Given the description of an element on the screen output the (x, y) to click on. 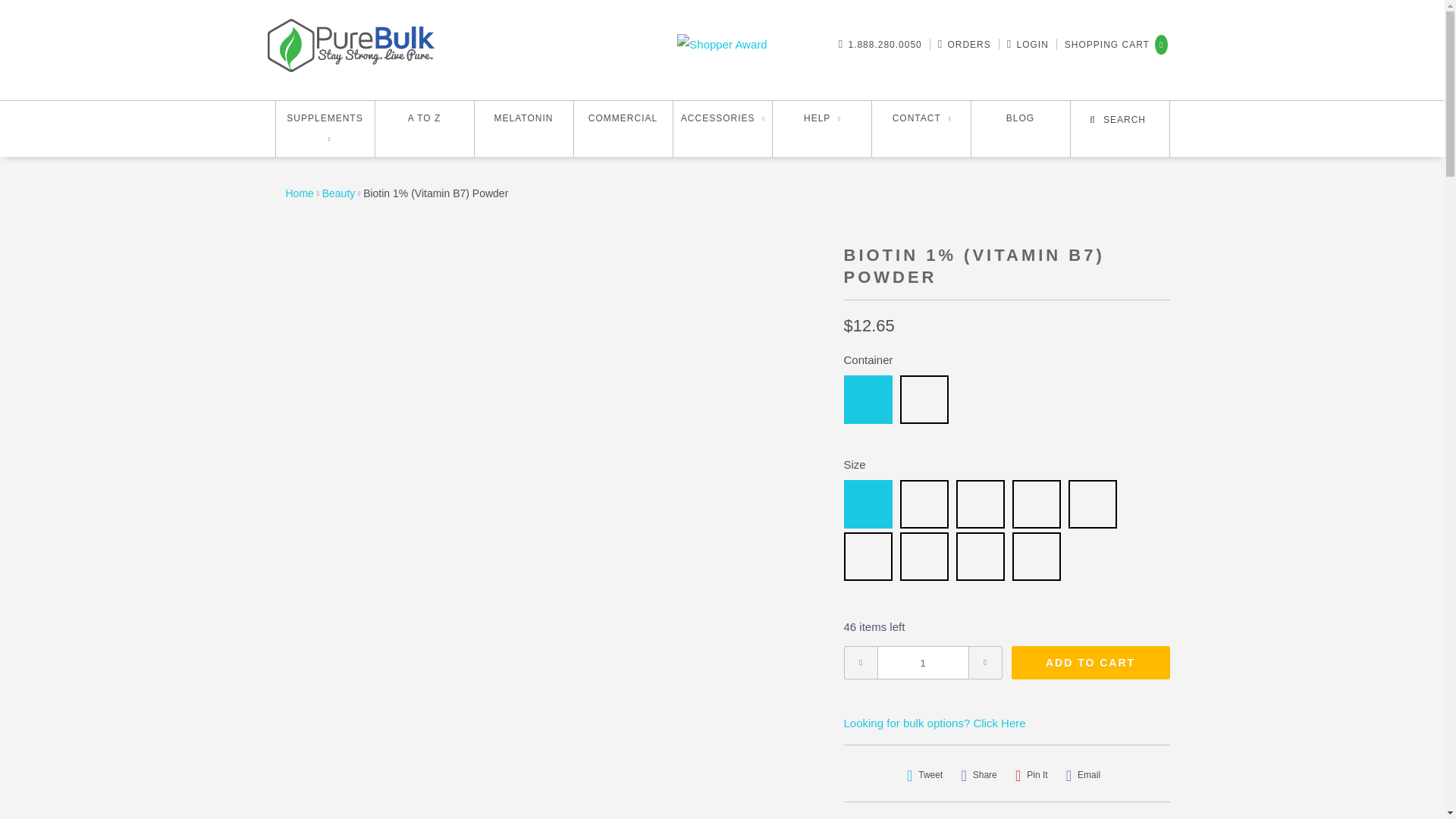
PureBulk, Inc. (299, 193)
1 (922, 662)
ORDERS (968, 44)
Email this to a friend (1083, 774)
Share this on Pinterest (1031, 774)
LOGIN (1032, 44)
Share this on Twitter (924, 774)
Beauty (338, 193)
Share this on Facebook (978, 774)
1.888.280.0050 (884, 44)
